Given the description of an element on the screen output the (x, y) to click on. 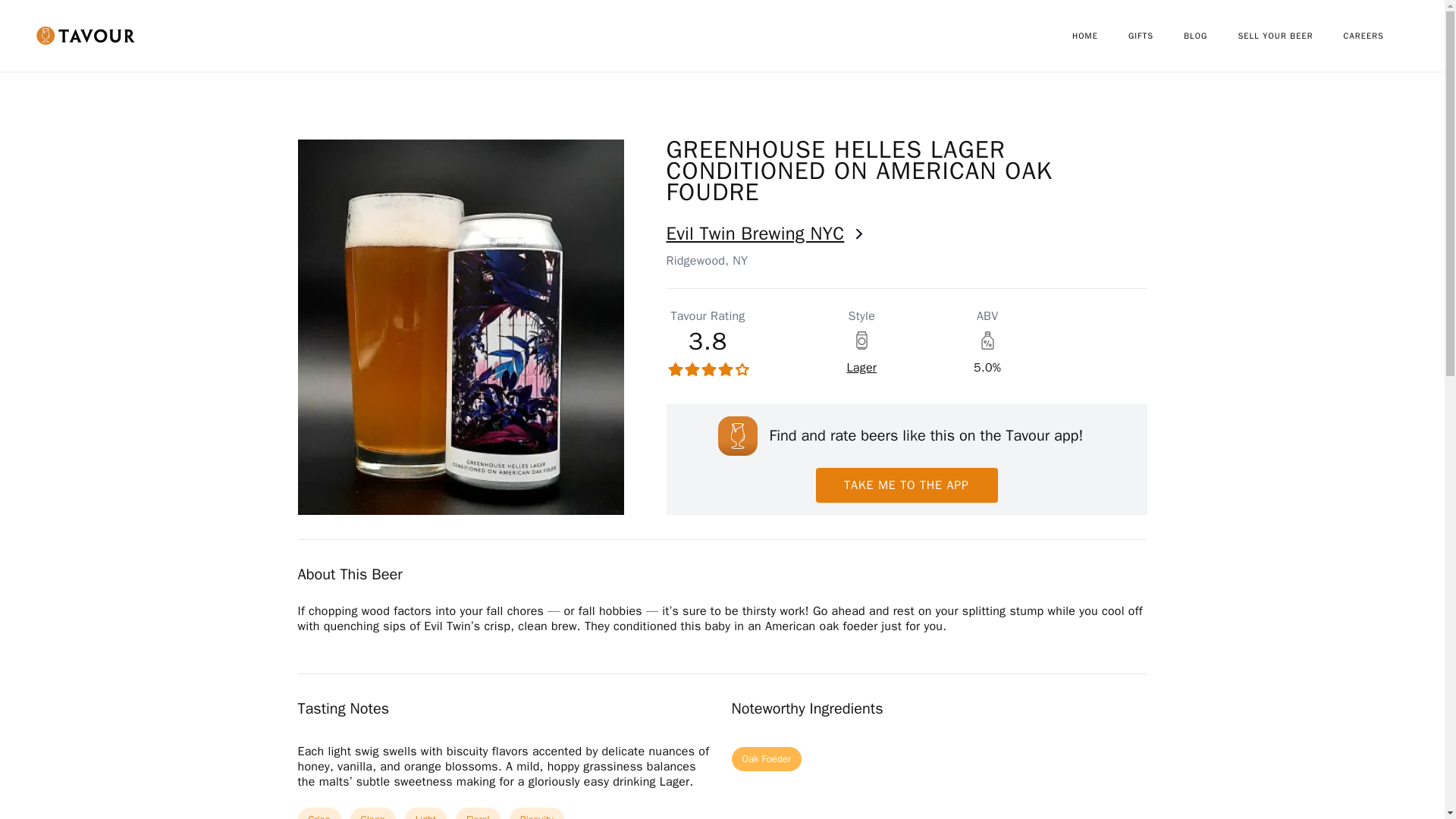
TAKE ME TO THE APP (906, 484)
sell your beer (1289, 35)
SELL YOUR BEER (1289, 35)
GIFTS (1155, 35)
Evil Twin Brewing NYC (906, 233)
blog (1210, 35)
CAREERS (1378, 35)
careers (1378, 35)
gifts (1155, 35)
HOME (1099, 35)
